Given the description of an element on the screen output the (x, y) to click on. 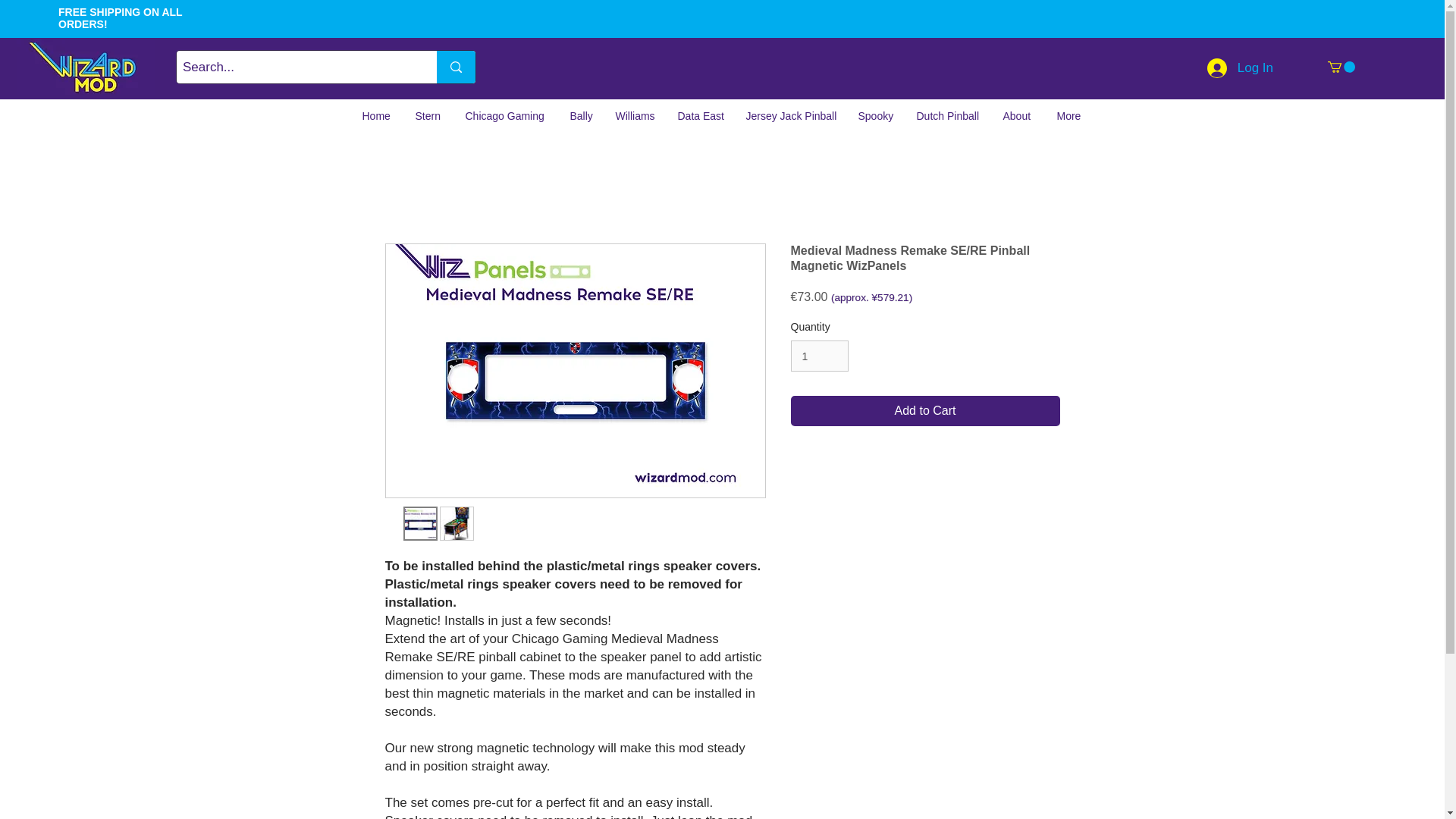
Log In (1240, 68)
1 (818, 355)
Home (376, 116)
Stern (427, 116)
